Given the description of an element on the screen output the (x, y) to click on. 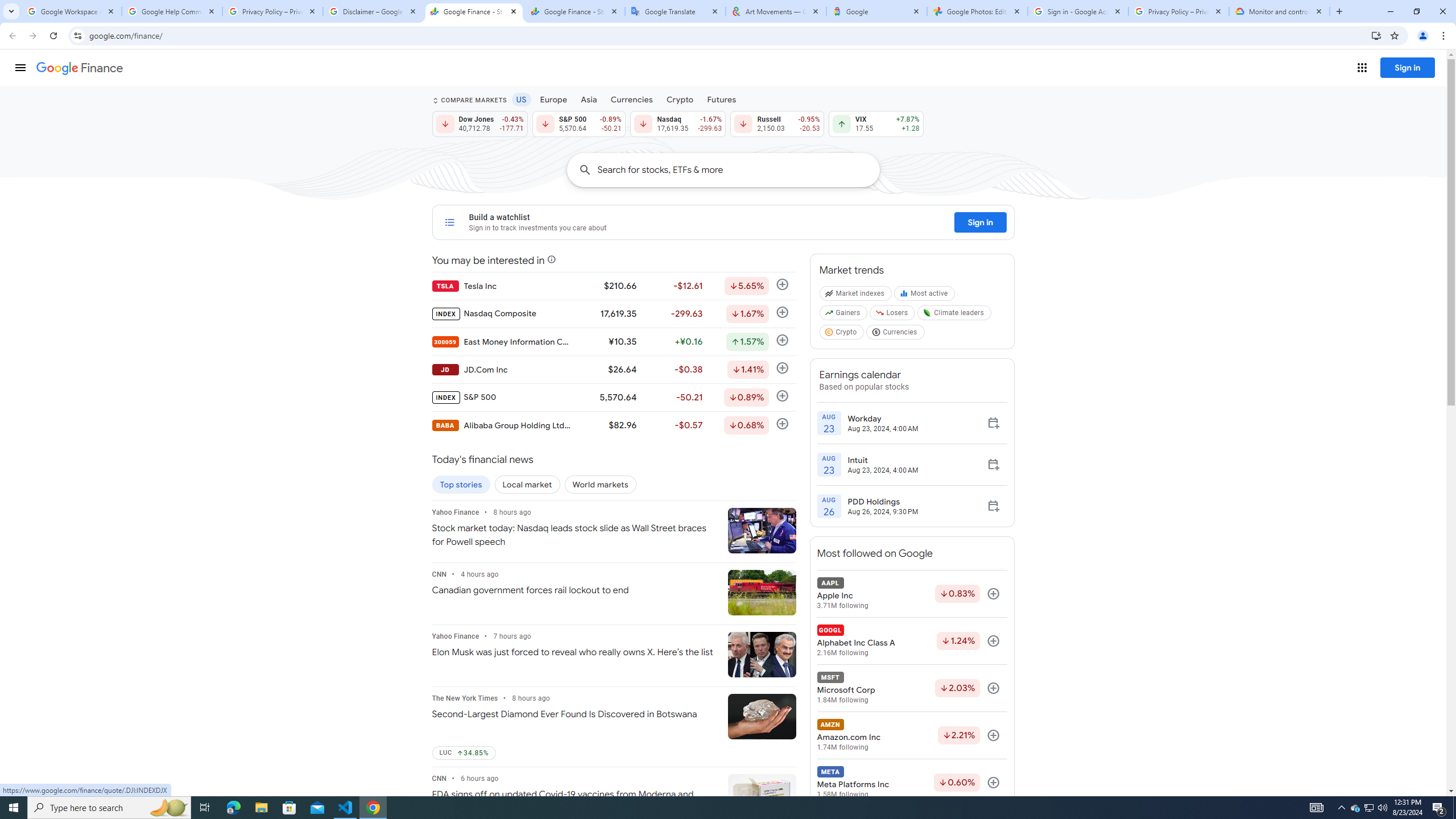
Get Add-ins (59, 286)
Shared with Me (288, 145)
OneDrive (288, 183)
Folders (560, 127)
Save As (59, 380)
Recover Unsaved Documents (530, 753)
New (59, 118)
Options (59, 753)
Print (59, 504)
